Given the description of an element on the screen output the (x, y) to click on. 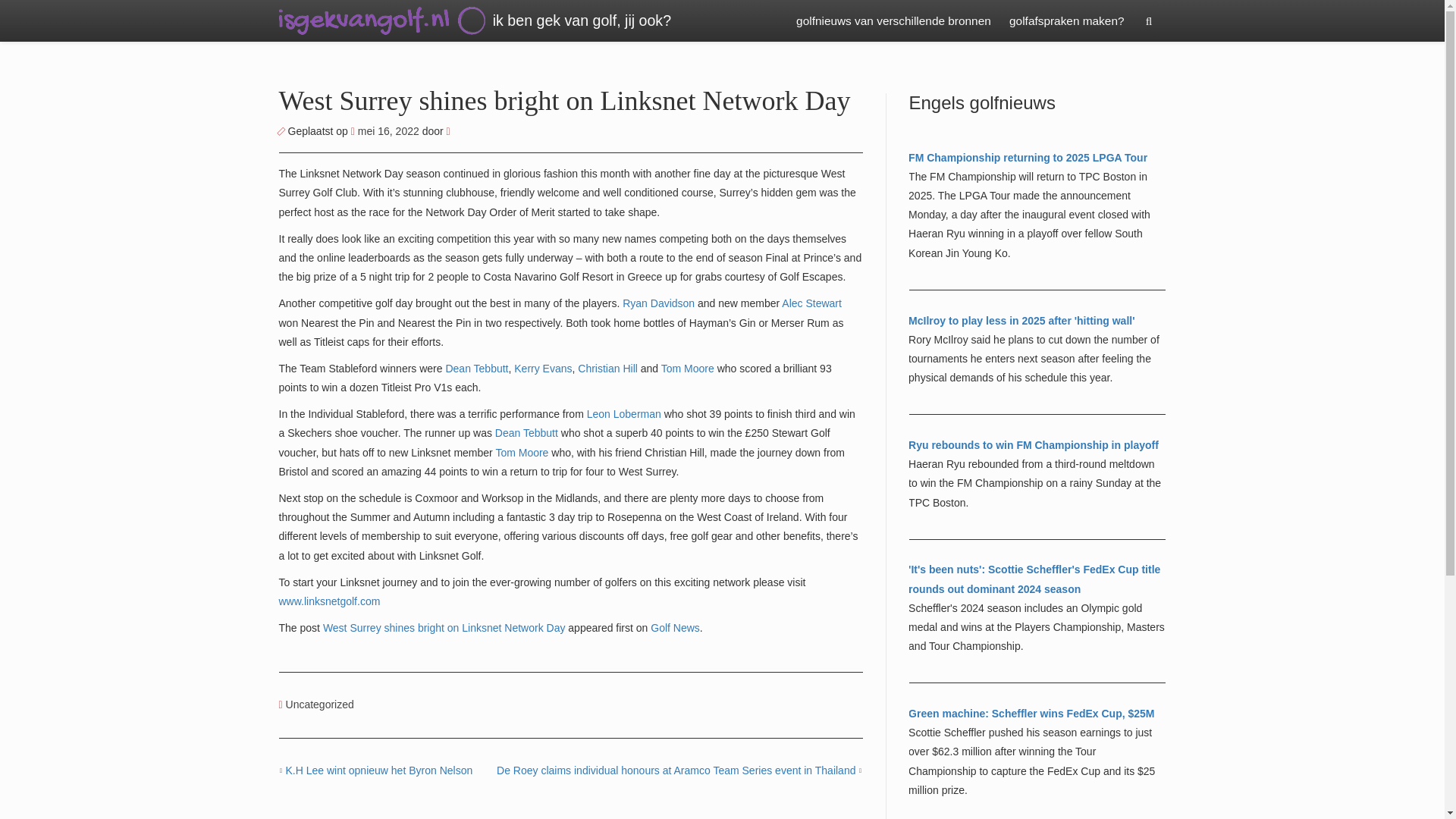
Tom Moore (687, 368)
Tom Moore (521, 452)
Christian Hill (607, 368)
golfafspraken maken? (1066, 20)
Uncategorized (319, 704)
Ryan Davidson (658, 303)
Dean Tebbutt (476, 368)
McIlroy to play less in 2025 after 'hitting wall' (1021, 320)
www.linksnetgolf.com (329, 601)
